Given the description of an element on the screen output the (x, y) to click on. 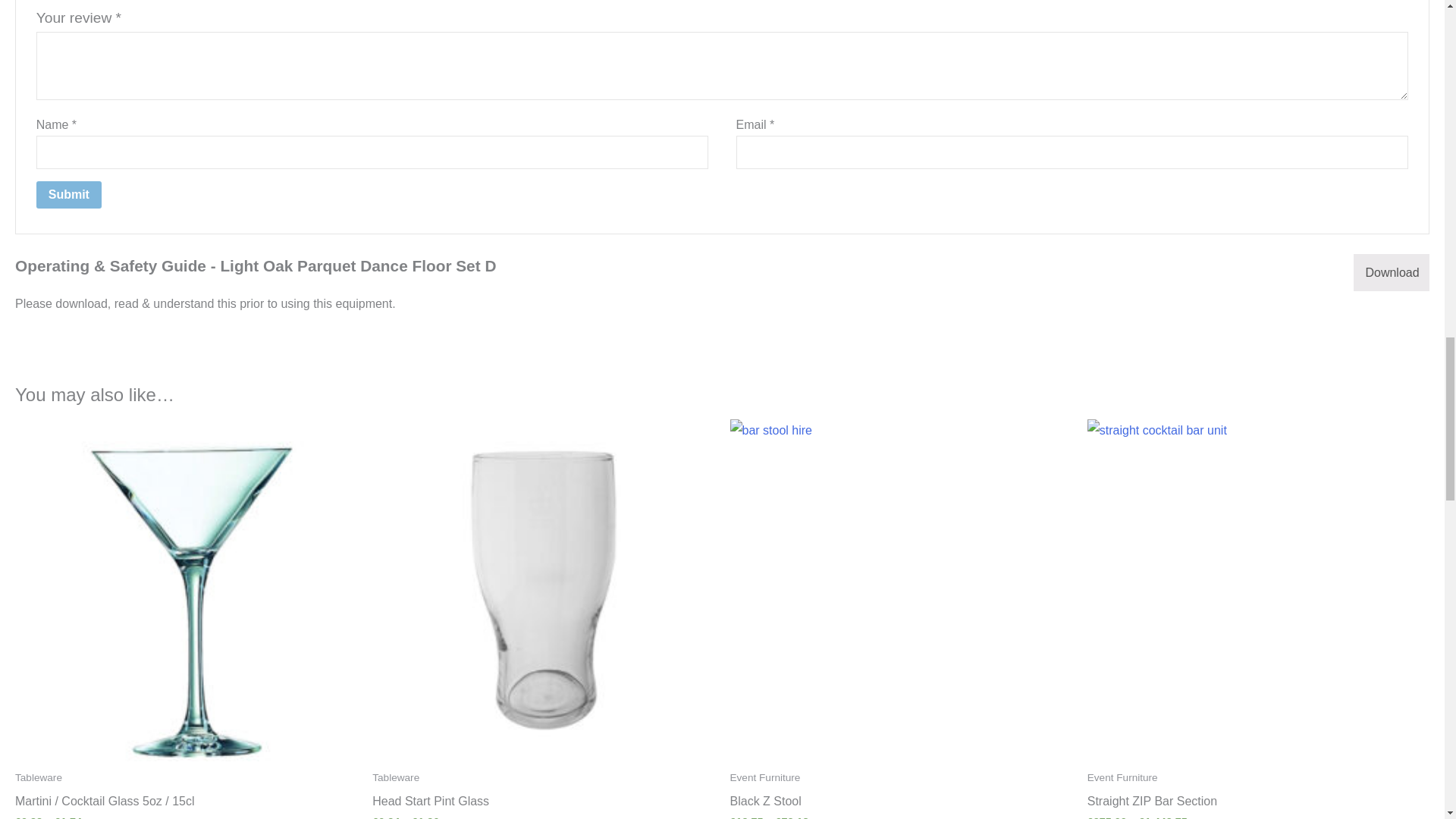
Submit (68, 194)
Submit (68, 194)
